Given the description of an element on the screen output the (x, y) to click on. 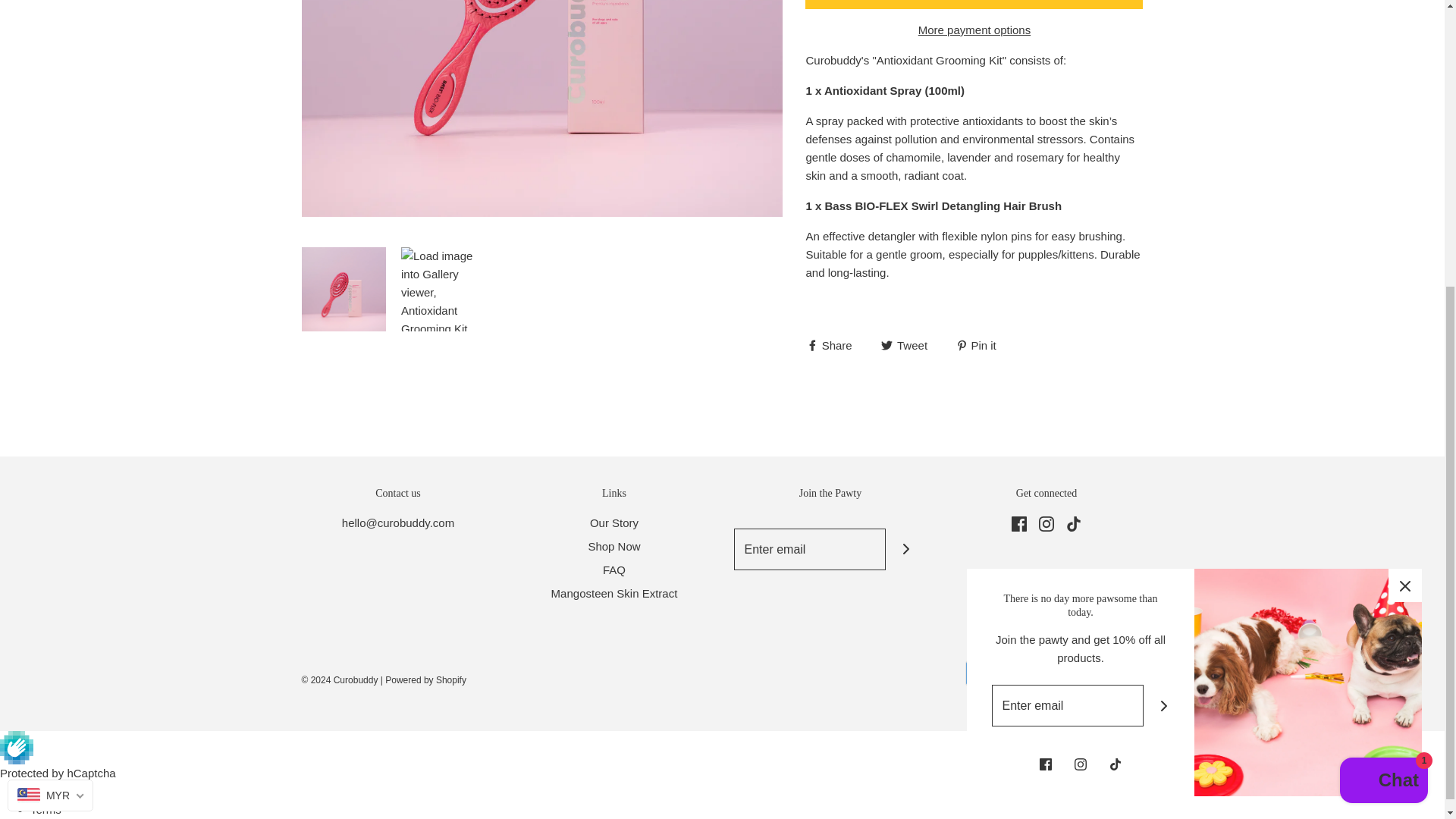
FAQ (614, 572)
Shopify online store chat (1383, 340)
PayPal (1076, 673)
Shop Now (614, 549)
Powered by Shopify (425, 679)
Our Story (614, 525)
Tweet (905, 344)
Visa (1121, 673)
Pin it (976, 344)
Mastercard (1030, 673)
TikTok icon (1073, 523)
More payment options (973, 30)
Mangosteen Skin Extract (614, 596)
Share (830, 344)
Instagram icon (1046, 523)
